Given the description of an element on the screen output the (x, y) to click on. 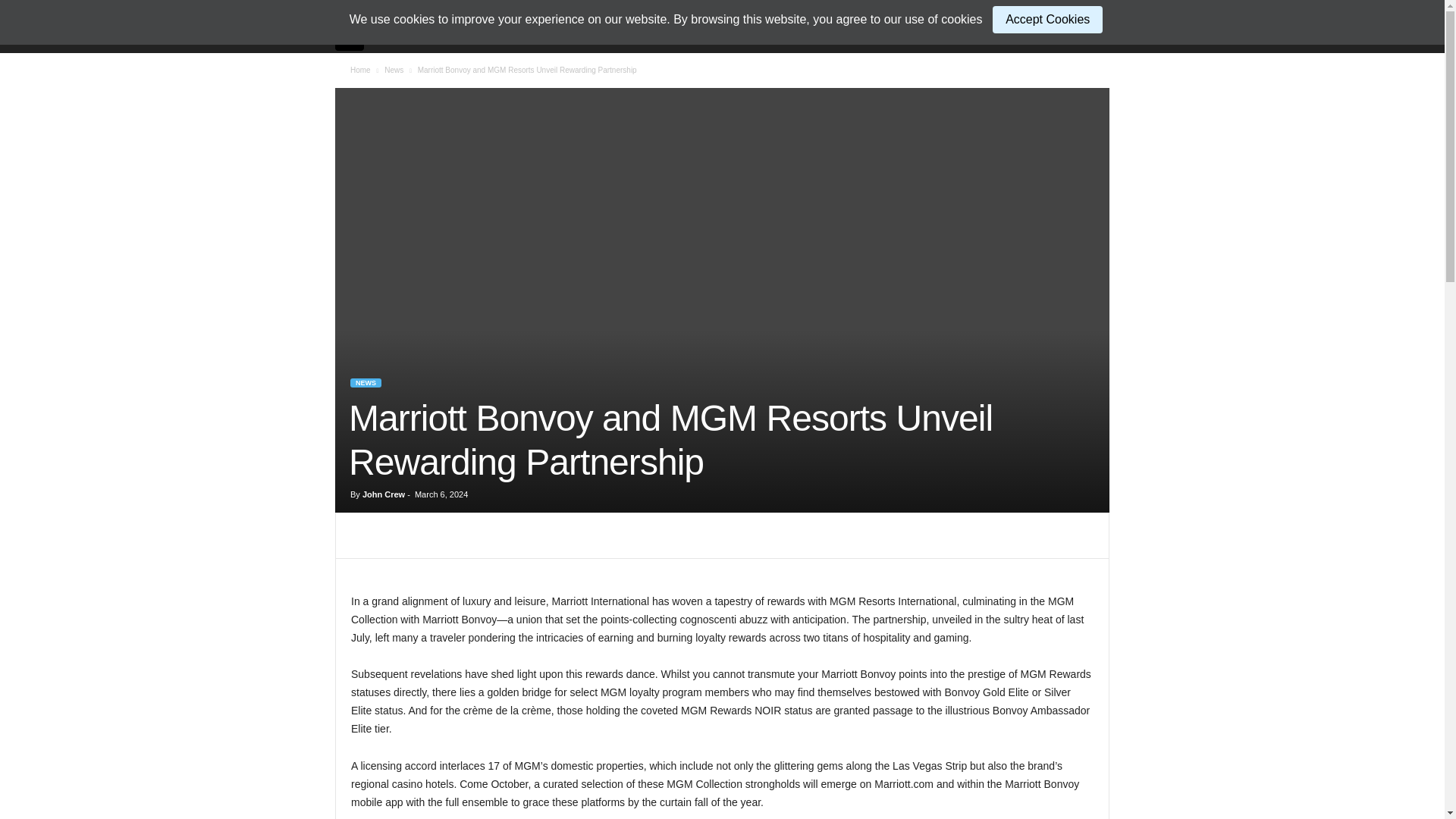
View all posts in News (393, 70)
News (393, 70)
Home (360, 70)
John Crew (383, 493)
Tunf News (357, 35)
NEWS (365, 382)
HOME (406, 36)
